Given the description of an element on the screen output the (x, y) to click on. 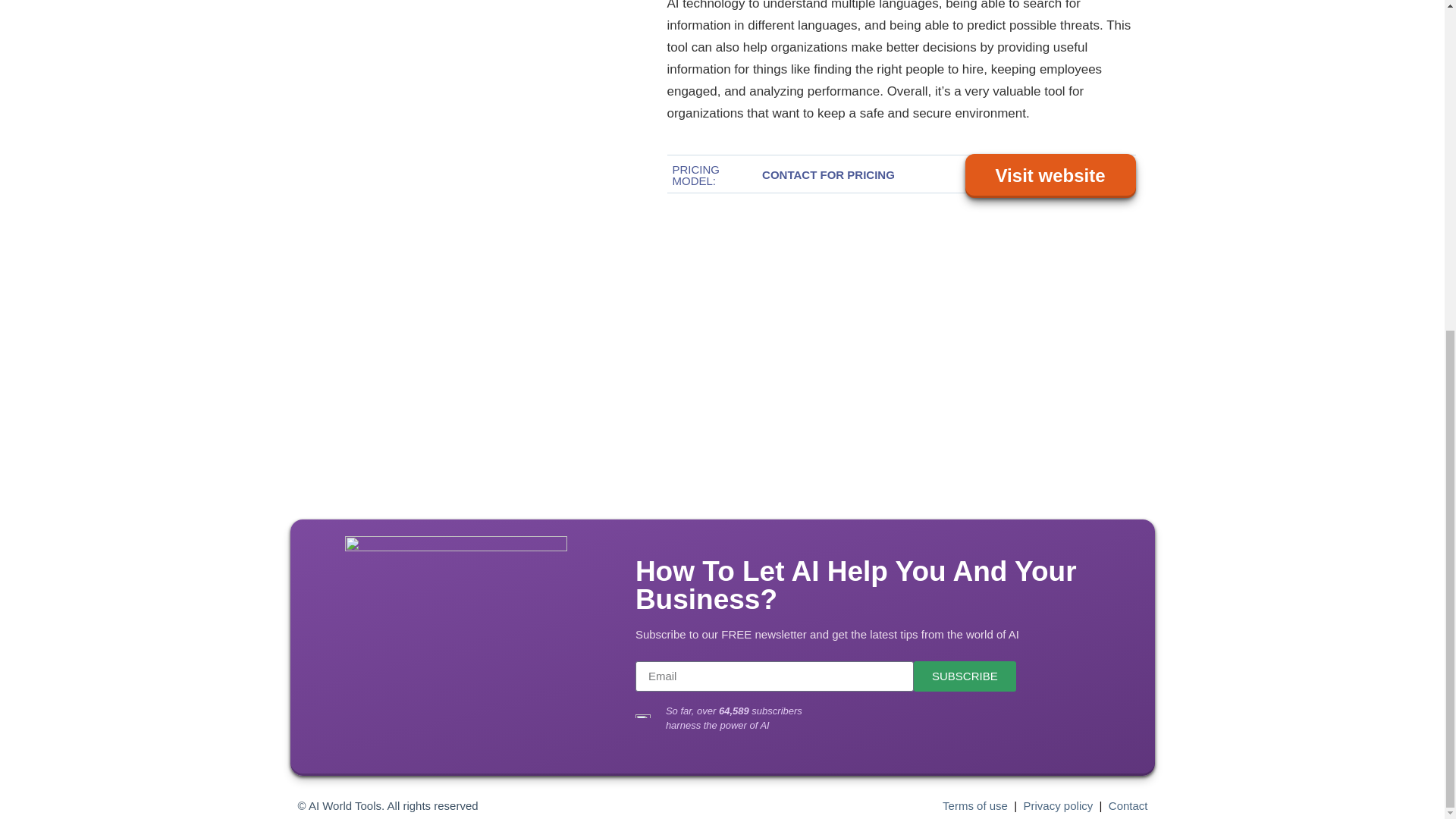
Contact (1128, 804)
Terms of use (974, 804)
Visit website (1051, 175)
Privacy policy (1058, 804)
SUBSCRIBE (965, 675)
